Given the description of an element on the screen output the (x, y) to click on. 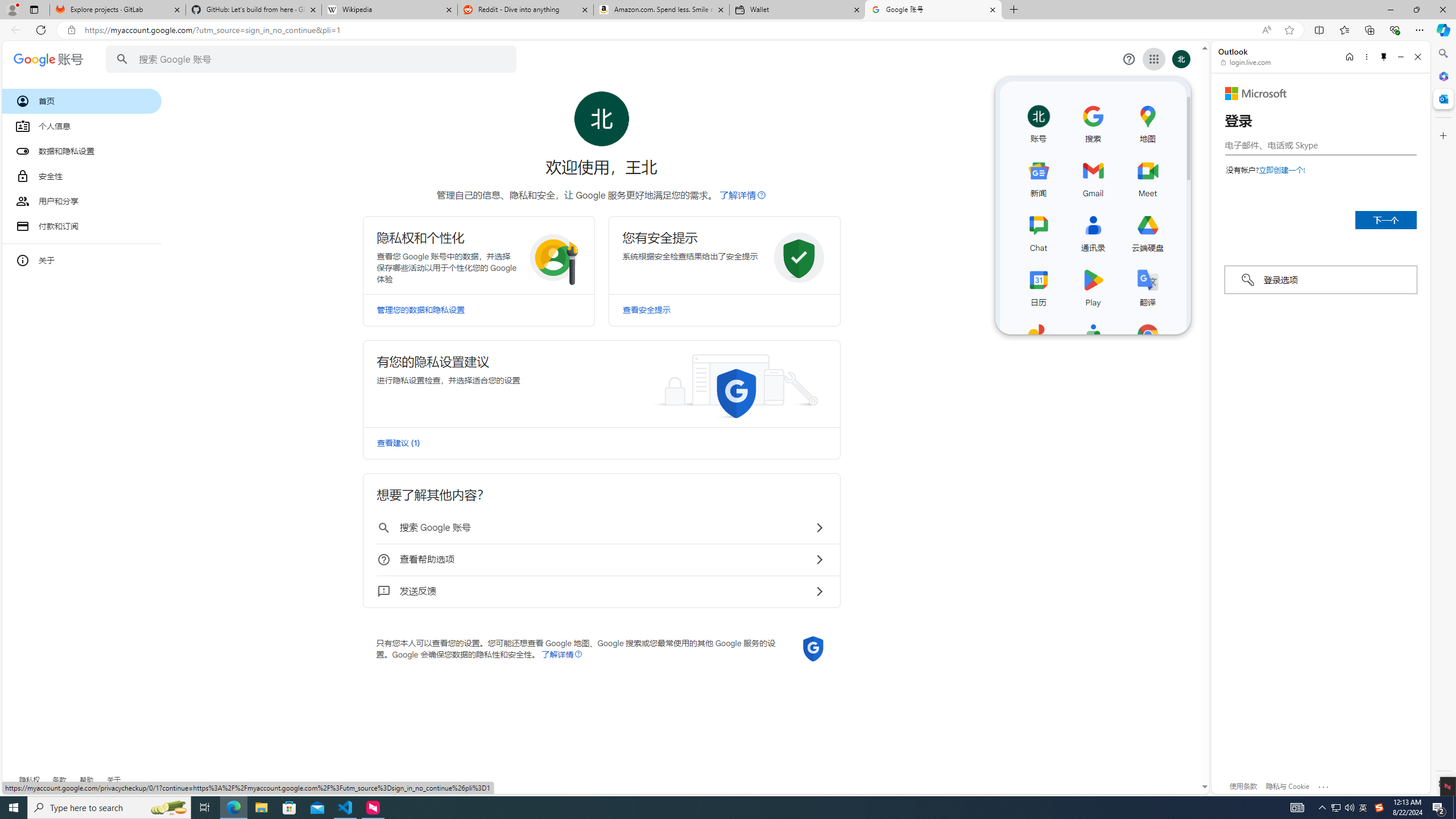
Wallet (797, 9)
